Given the description of an element on the screen output the (x, y) to click on. 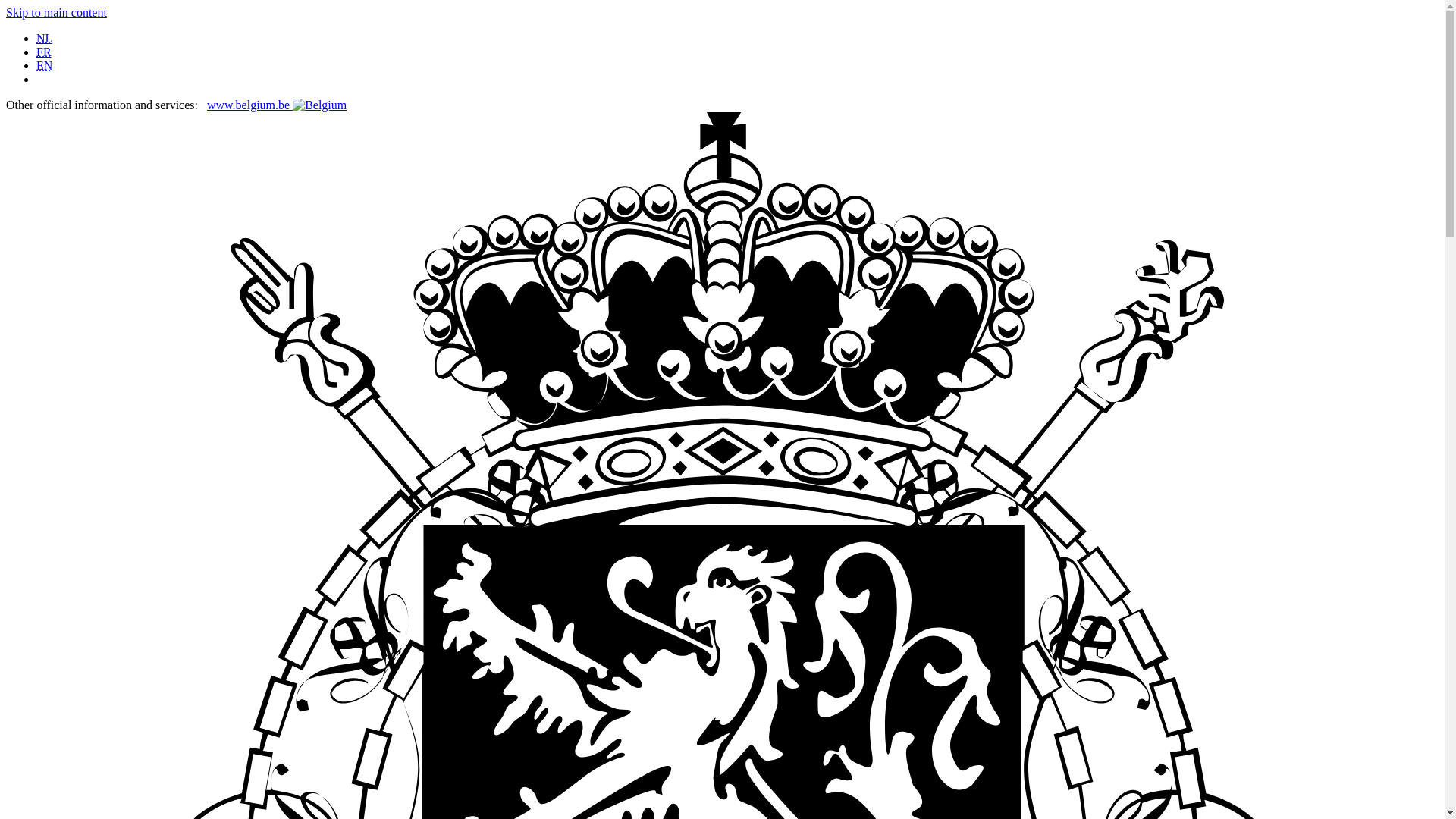
Anglais (44, 65)
EN (44, 65)
NL (44, 38)
Nederlands (44, 38)
FR (43, 51)
www.belgium.be (276, 104)
Skip to main content (55, 11)
